Given the description of an element on the screen output the (x, y) to click on. 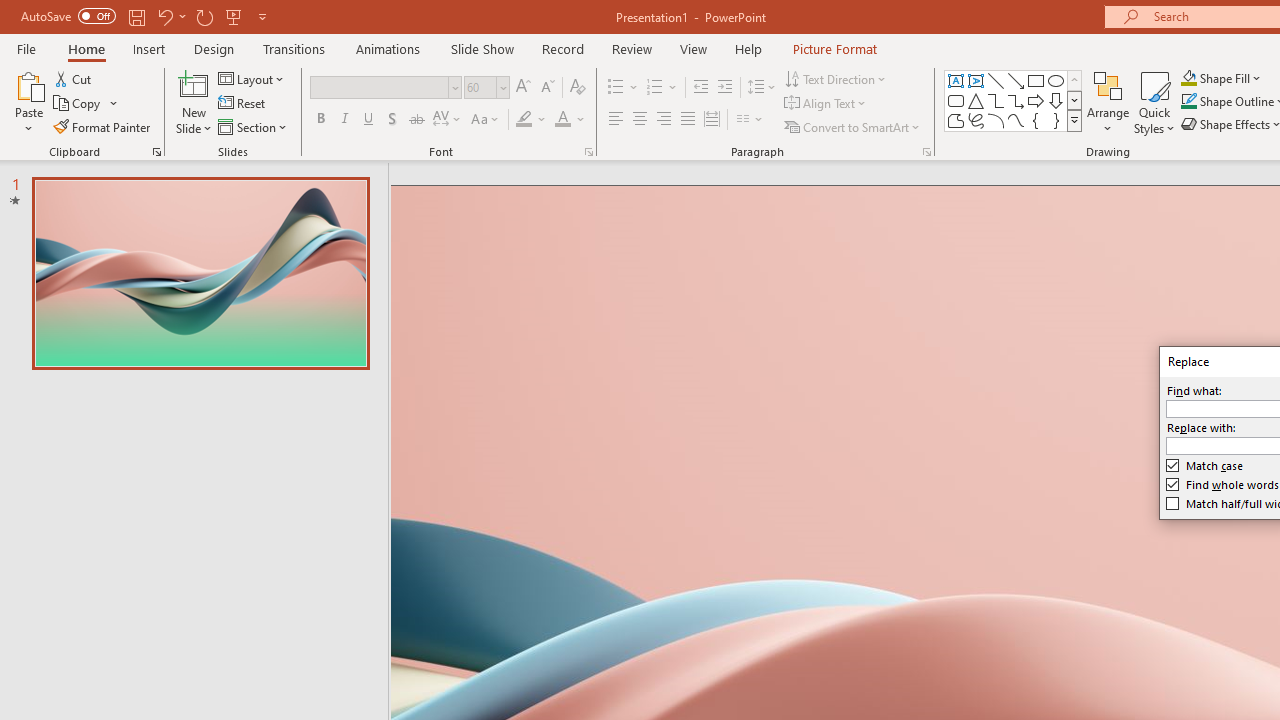
Match case (1205, 465)
